Given the description of an element on the screen output the (x, y) to click on. 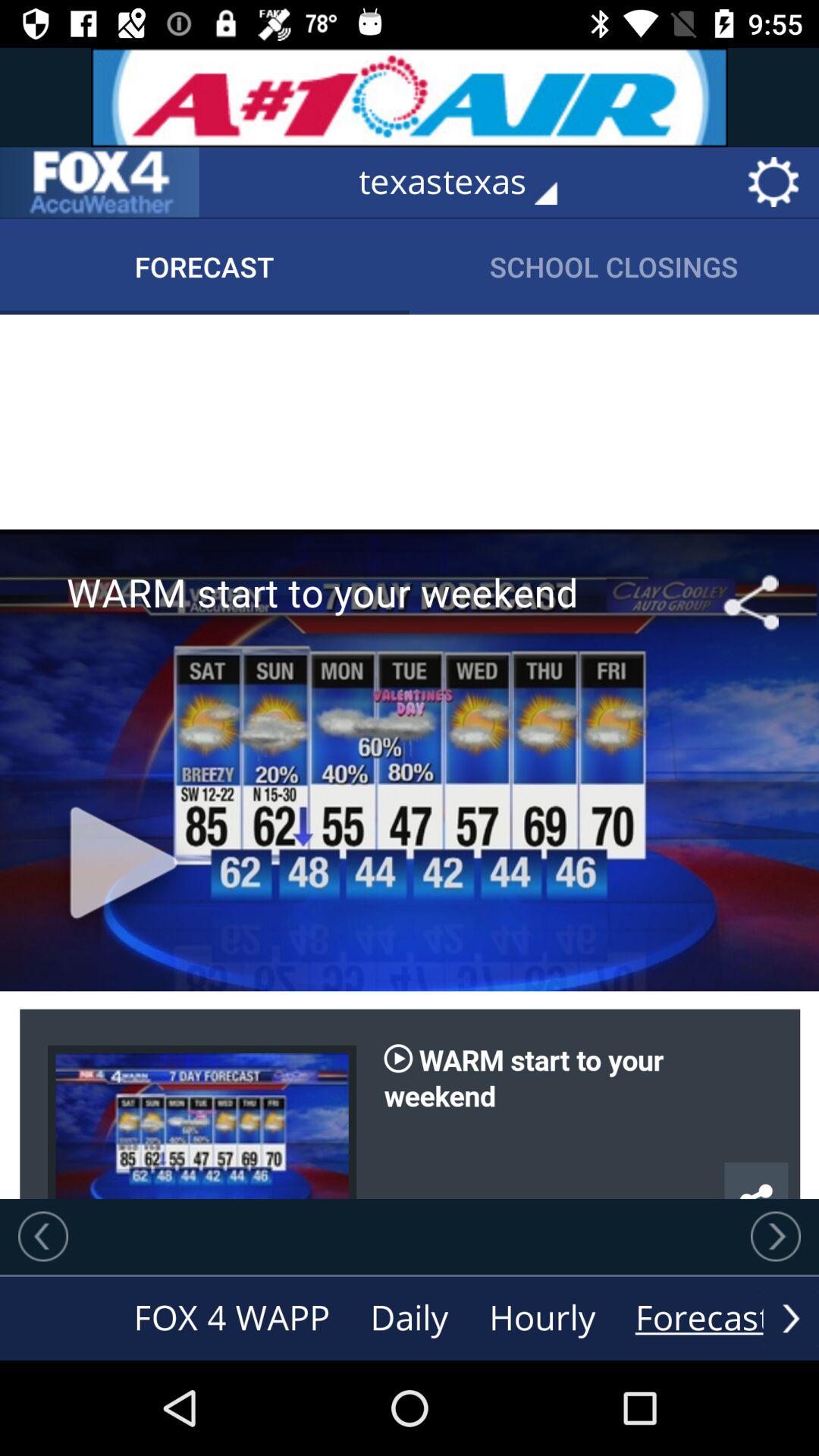
go to next box (43, 1236)
